Given the description of an element on the screen output the (x, y) to click on. 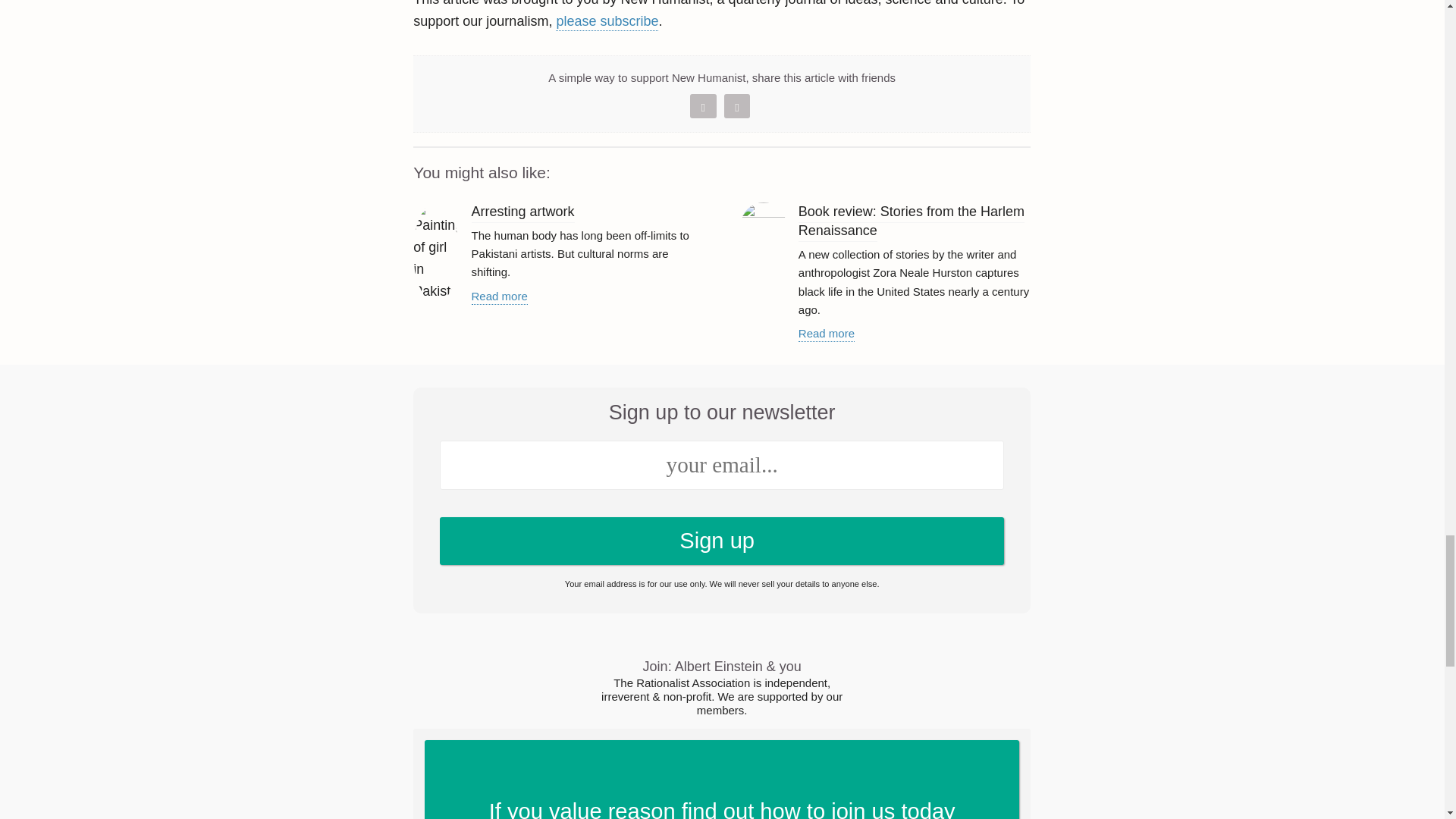
Book review: Stories from the Harlem Renaissance (911, 222)
please subscribe (499, 296)
Arresting artwork (607, 22)
Sign up (523, 212)
Share this blog post with your followers on Twitter (721, 540)
If you value reason find out how to join us today (703, 105)
